Given the description of an element on the screen output the (x, y) to click on. 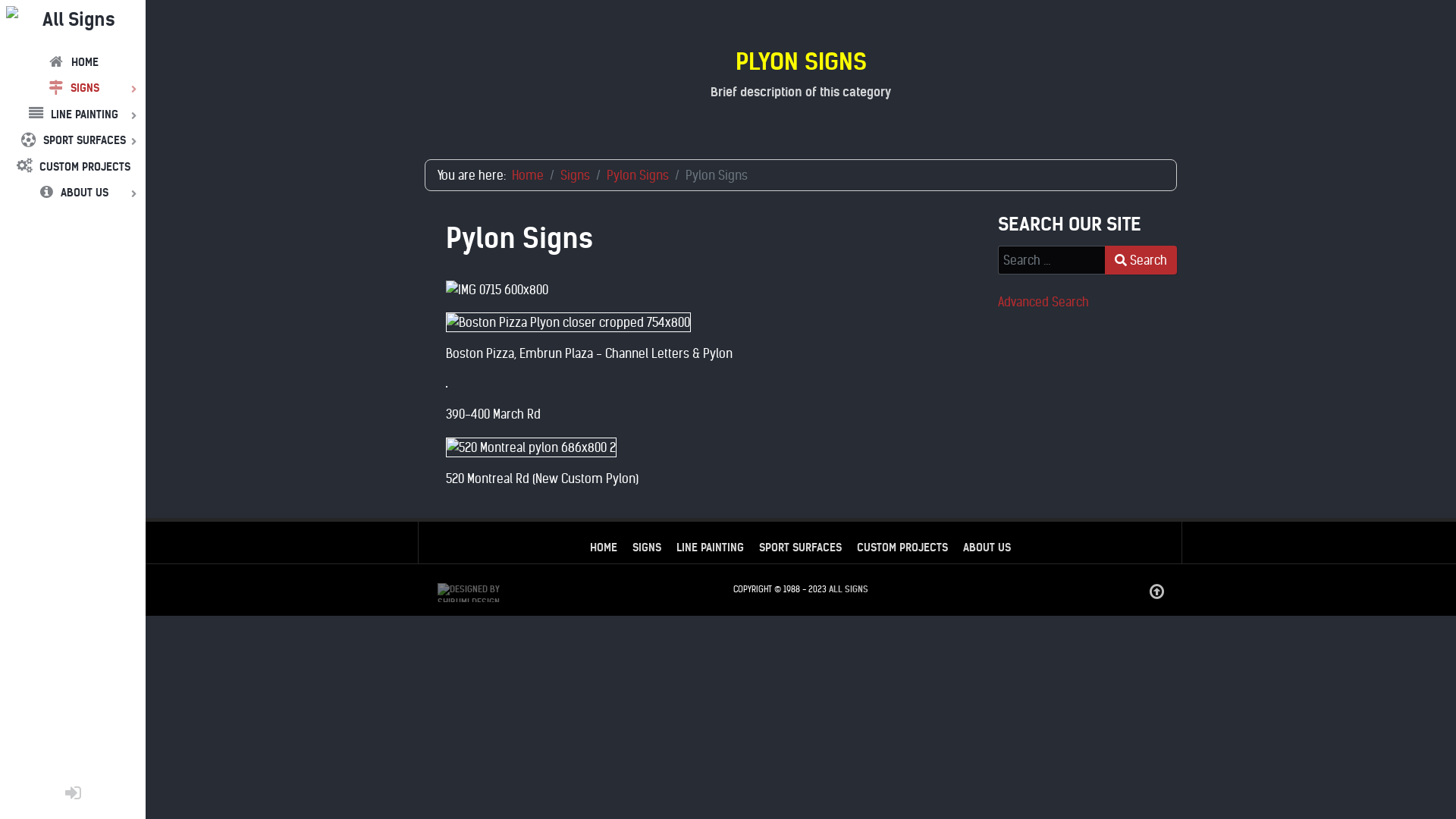
Advanced Search Element type: text (1042, 301)
CUSTOM PROJECTS Element type: text (901, 547)
Designed by Shibumi Design Studios Element type: hover (484, 590)
LINE PAINTING Element type: text (709, 547)
ALL SIGNS Element type: text (848, 588)
Home Element type: text (527, 174)
Pylon Signs Element type: text (637, 174)
SIGNS Element type: text (72, 87)
HOME Element type: text (72, 61)
HOME Element type: text (603, 547)
Signs Element type: text (574, 174)
LINE PAINTING Element type: text (72, 113)
CUSTOM PROJECTS Element type: text (72, 165)
SPORT SURFACES Element type: text (72, 139)
SIGNS Element type: text (646, 547)
ABOUT US Element type: text (986, 547)
ABOUT US Element type: text (72, 191)
Search Element type: text (1140, 259)
SPORT SURFACES Element type: text (799, 547)
